Given the description of an element on the screen output the (x, y) to click on. 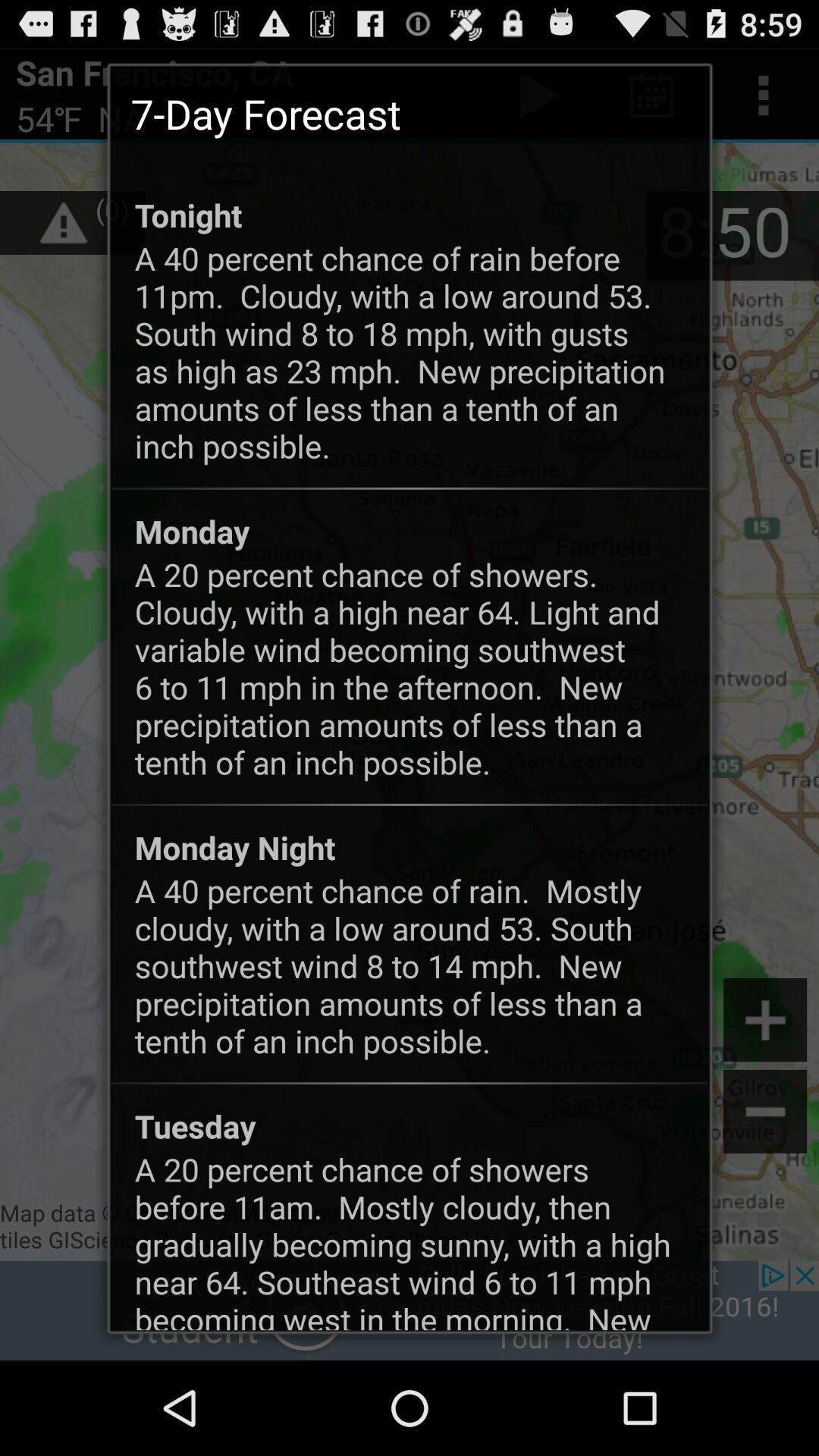
press the icon above the a 20 percent (194, 1125)
